Given the description of an element on the screen output the (x, y) to click on. 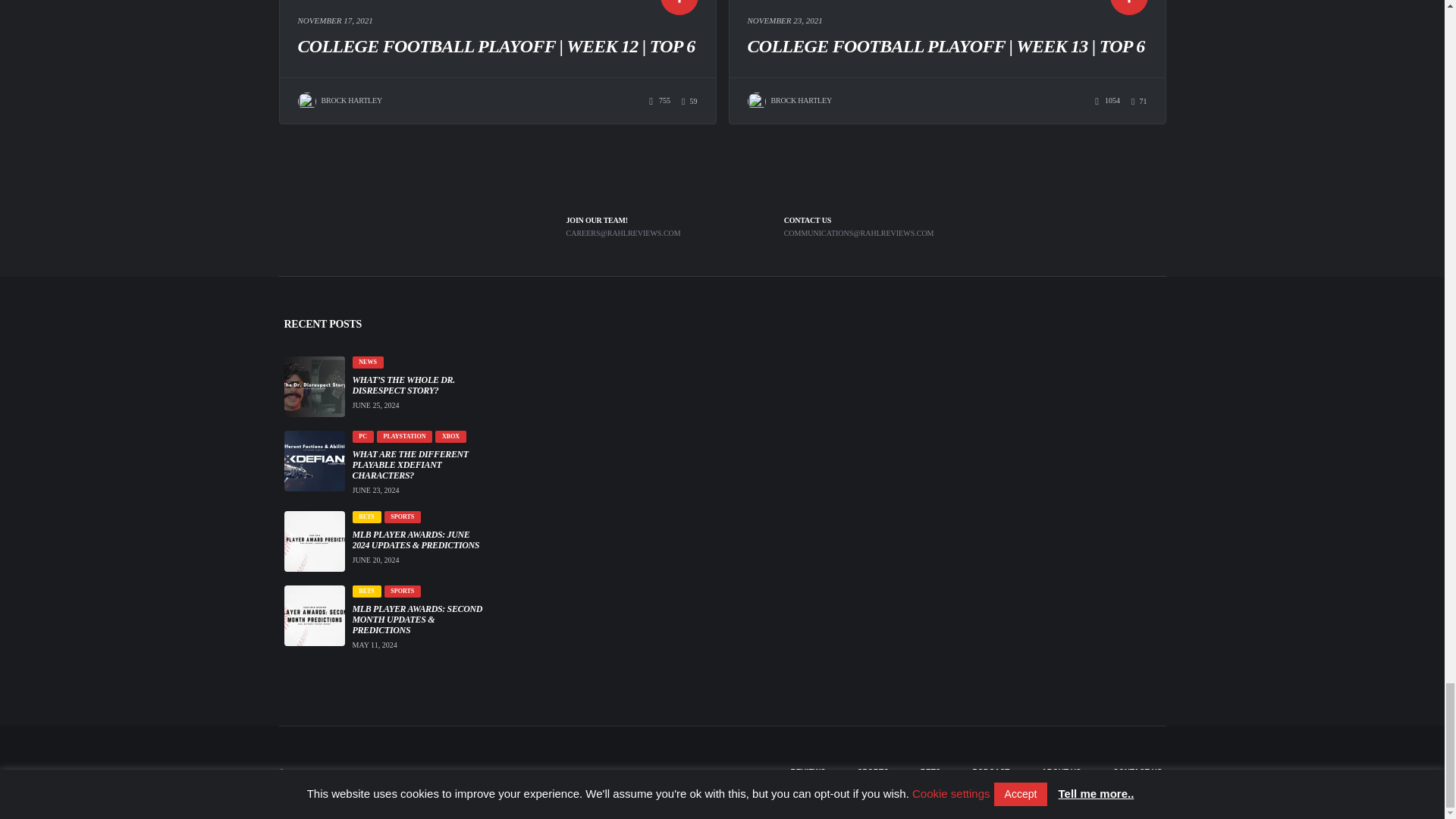
Like (1139, 102)
59 (689, 102)
What Are the Different Playable xDefiant Characters? (419, 464)
Like (689, 102)
